Given the description of an element on the screen output the (x, y) to click on. 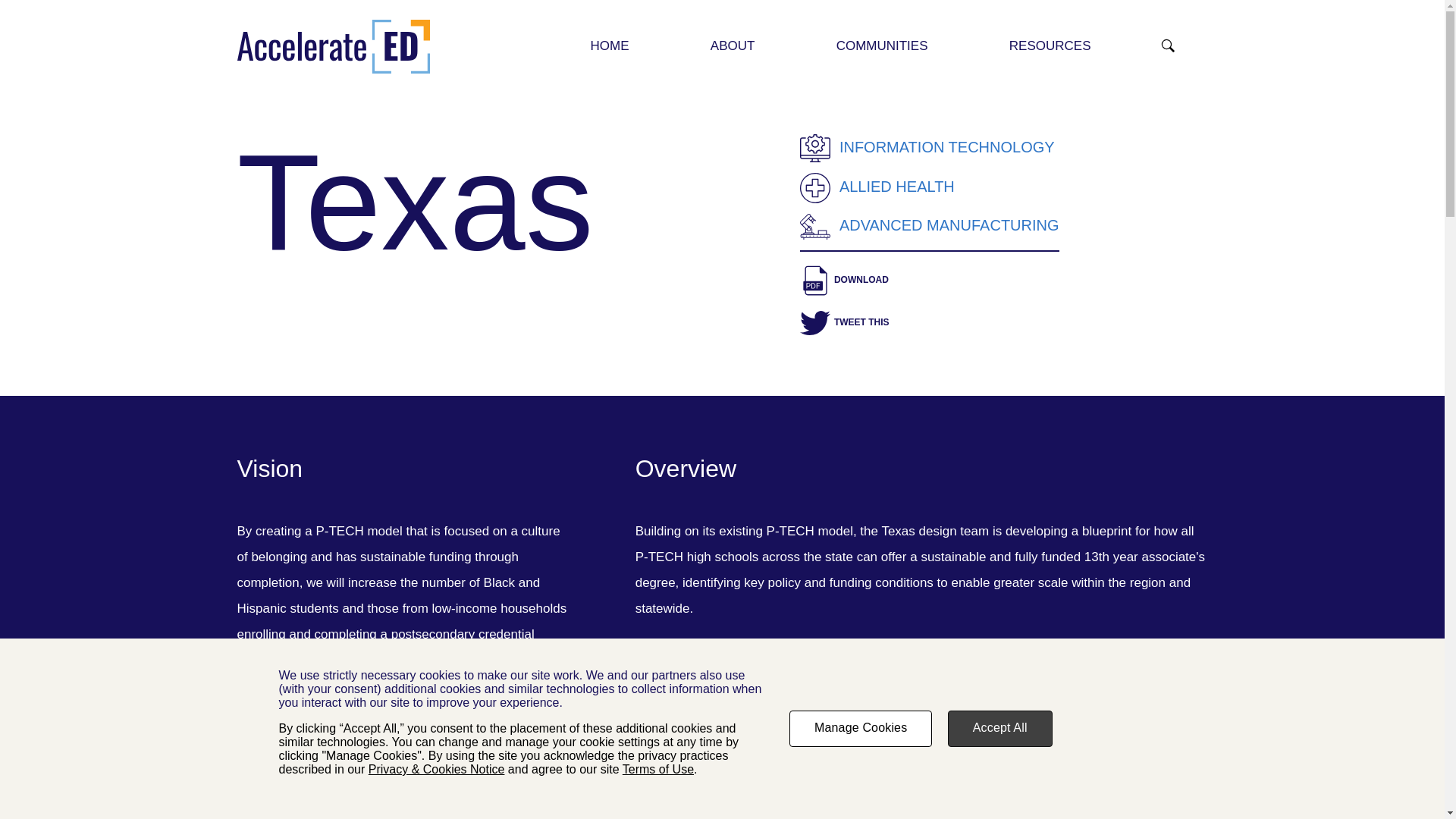
TWEET THIS (929, 323)
COMMUNITIES (881, 45)
ABOUT (732, 45)
RESOURCES (1049, 45)
DOWNLOAD (929, 280)
HOME (609, 45)
